Given the description of an element on the screen output the (x, y) to click on. 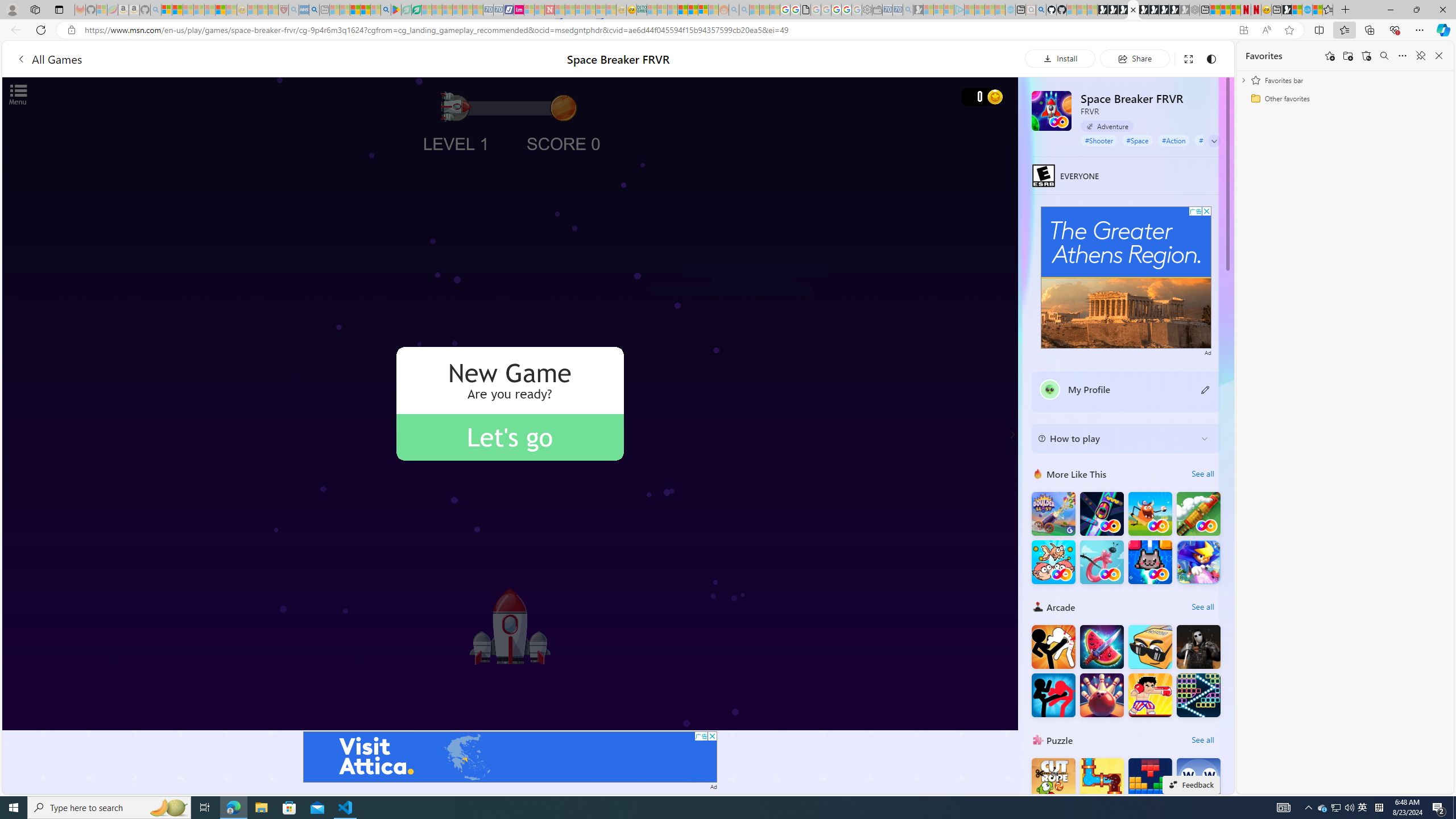
Gold Train FRVR (1198, 513)
#Action (1174, 140)
Bumper Car FRVR (1101, 513)
Adventure (1107, 126)
Super Bowling Mania (1101, 694)
Arcade (1037, 606)
